Given the description of an element on the screen output the (x, y) to click on. 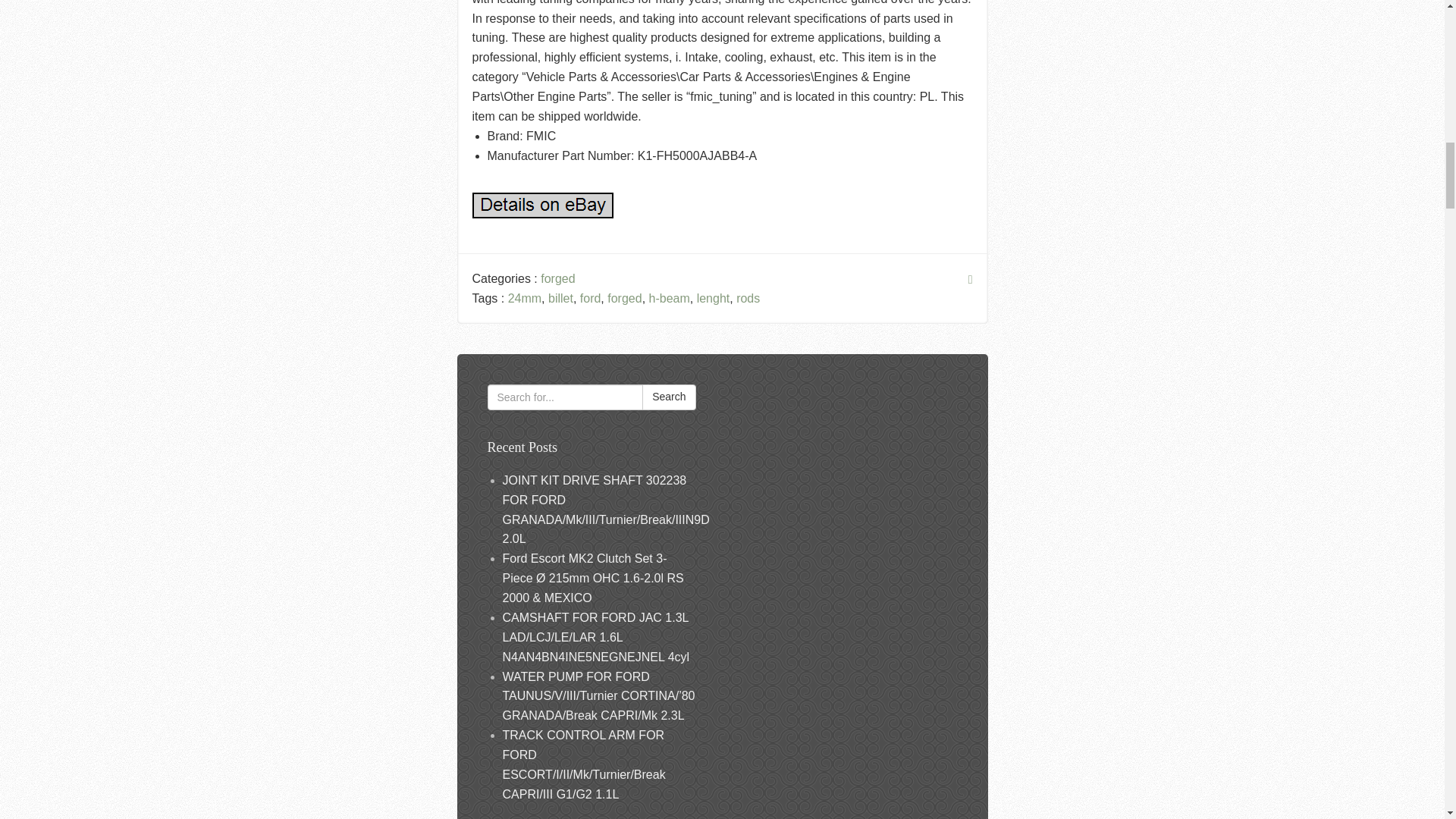
ford (590, 297)
billet (560, 297)
24mm (524, 297)
forged (624, 297)
rods (748, 297)
forged (557, 278)
Search (668, 397)
Search (668, 397)
lenght (713, 297)
h-beam (669, 297)
